Given the description of an element on the screen output the (x, y) to click on. 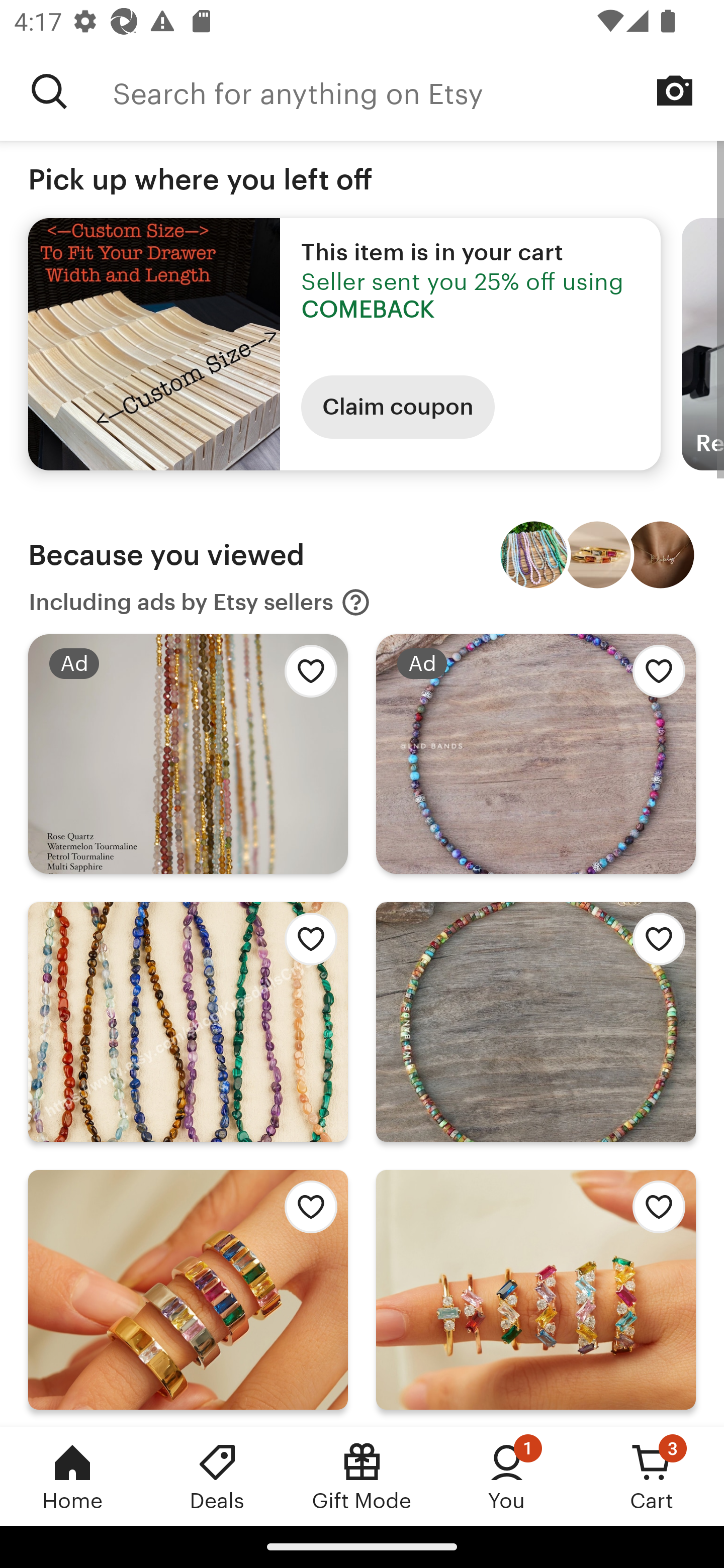
Search for anything on Etsy (49, 91)
Search by image (674, 90)
Search for anything on Etsy (418, 91)
Claim coupon (397, 407)
Including ads by Etsy sellers (199, 601)
Deals (216, 1475)
Gift Mode (361, 1475)
You, 1 new notification You (506, 1475)
Cart, 3 new notifications Cart (651, 1475)
